Given the description of an element on the screen output the (x, y) to click on. 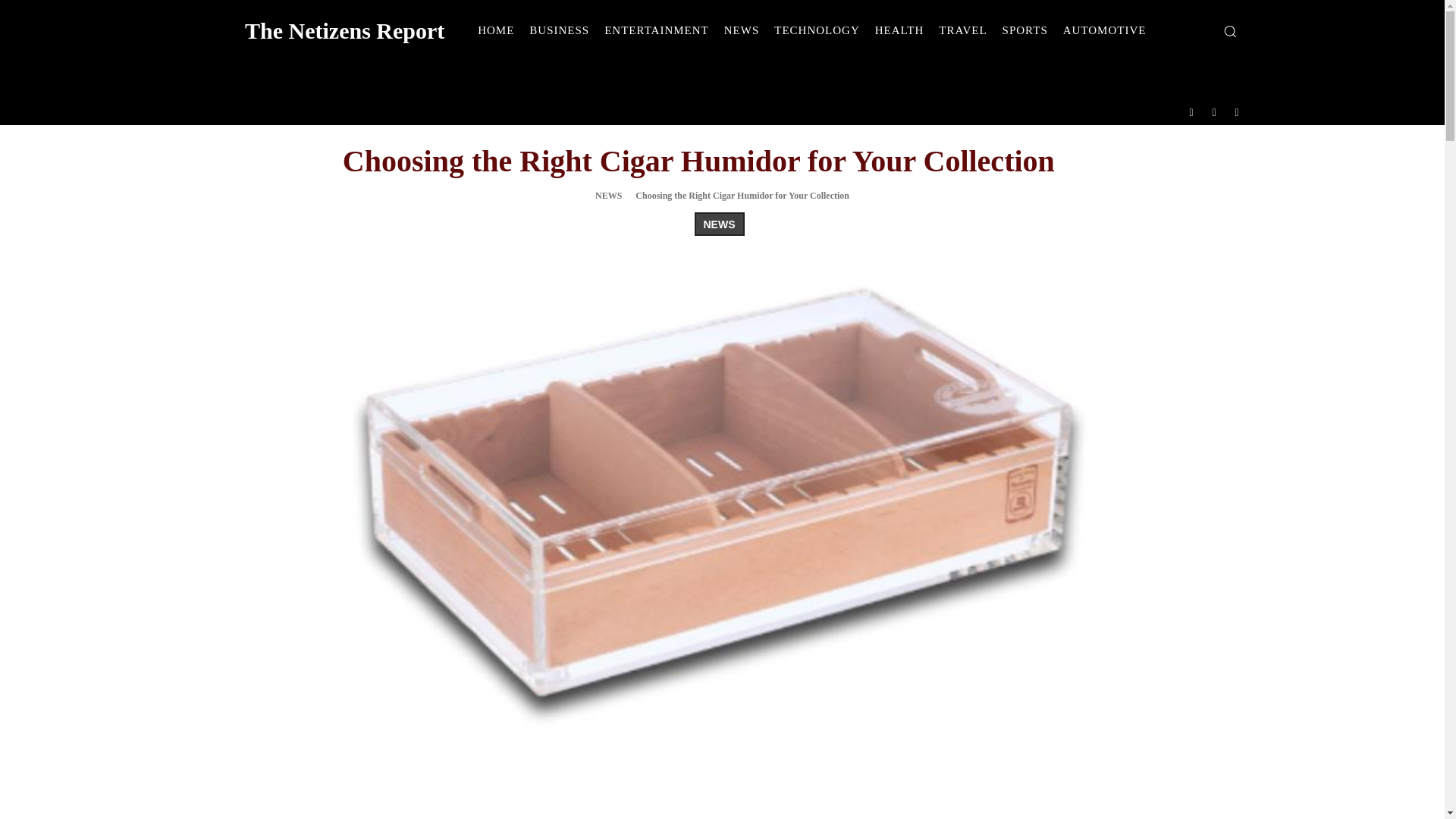
NEWS (741, 30)
Facebook (1191, 111)
TRAVEL (962, 30)
Twitter (1237, 111)
NEWS (608, 195)
HEALTH (899, 30)
AUTOMOTIVE (1104, 30)
SPORTS (1024, 30)
View all posts in NEWS (608, 195)
TECHNOLOGY (817, 30)
